Given the description of an element on the screen output the (x, y) to click on. 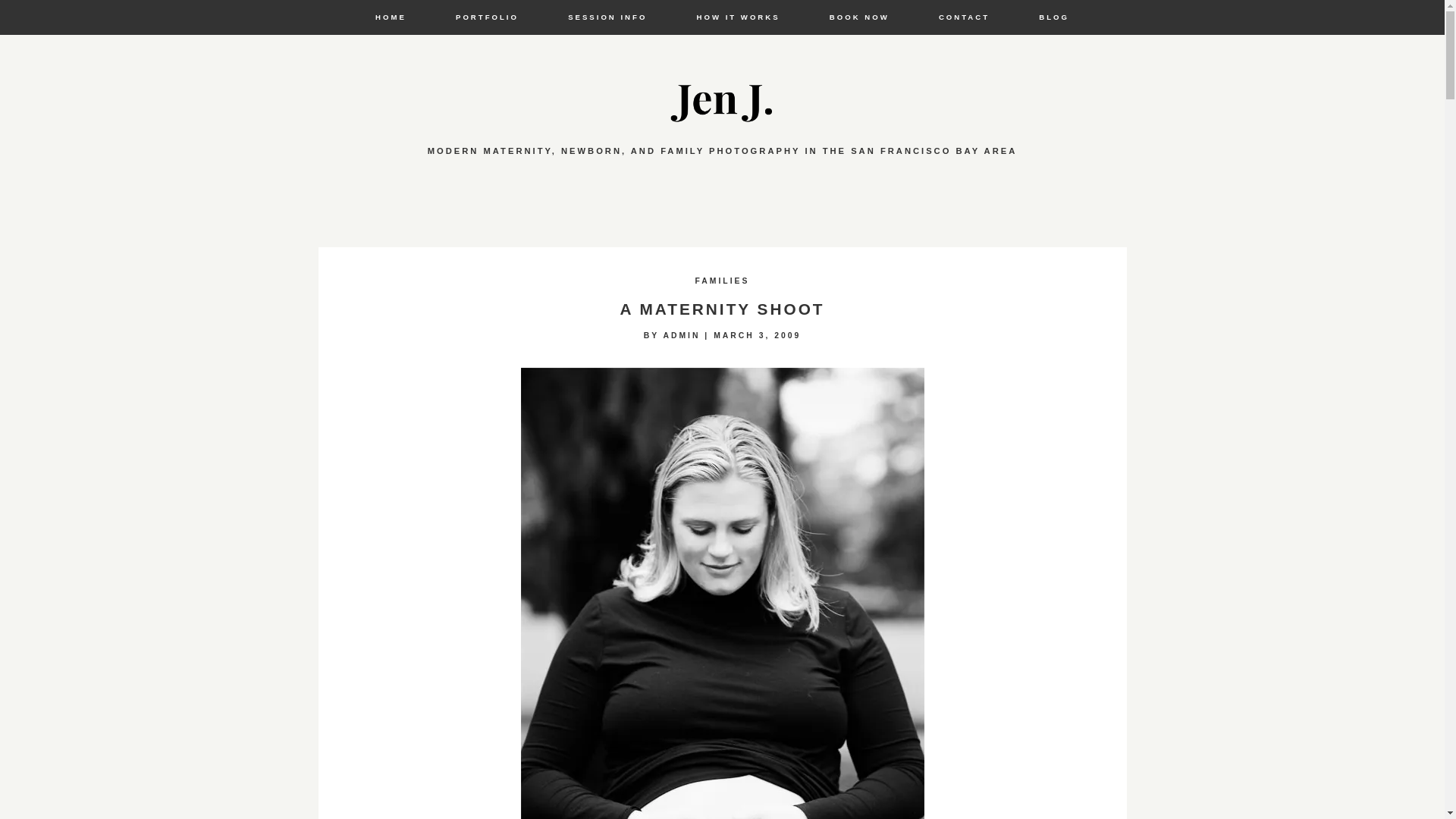
FAMILIES (722, 280)
CONTACT (963, 17)
SESSION INFO (606, 17)
PORTFOLIO (486, 17)
BOOK NOW (858, 17)
HOME (390, 17)
HOW IT WORKS (738, 17)
BLOG (1053, 17)
MARCH 3, 2009 (756, 335)
